Given the description of an element on the screen output the (x, y) to click on. 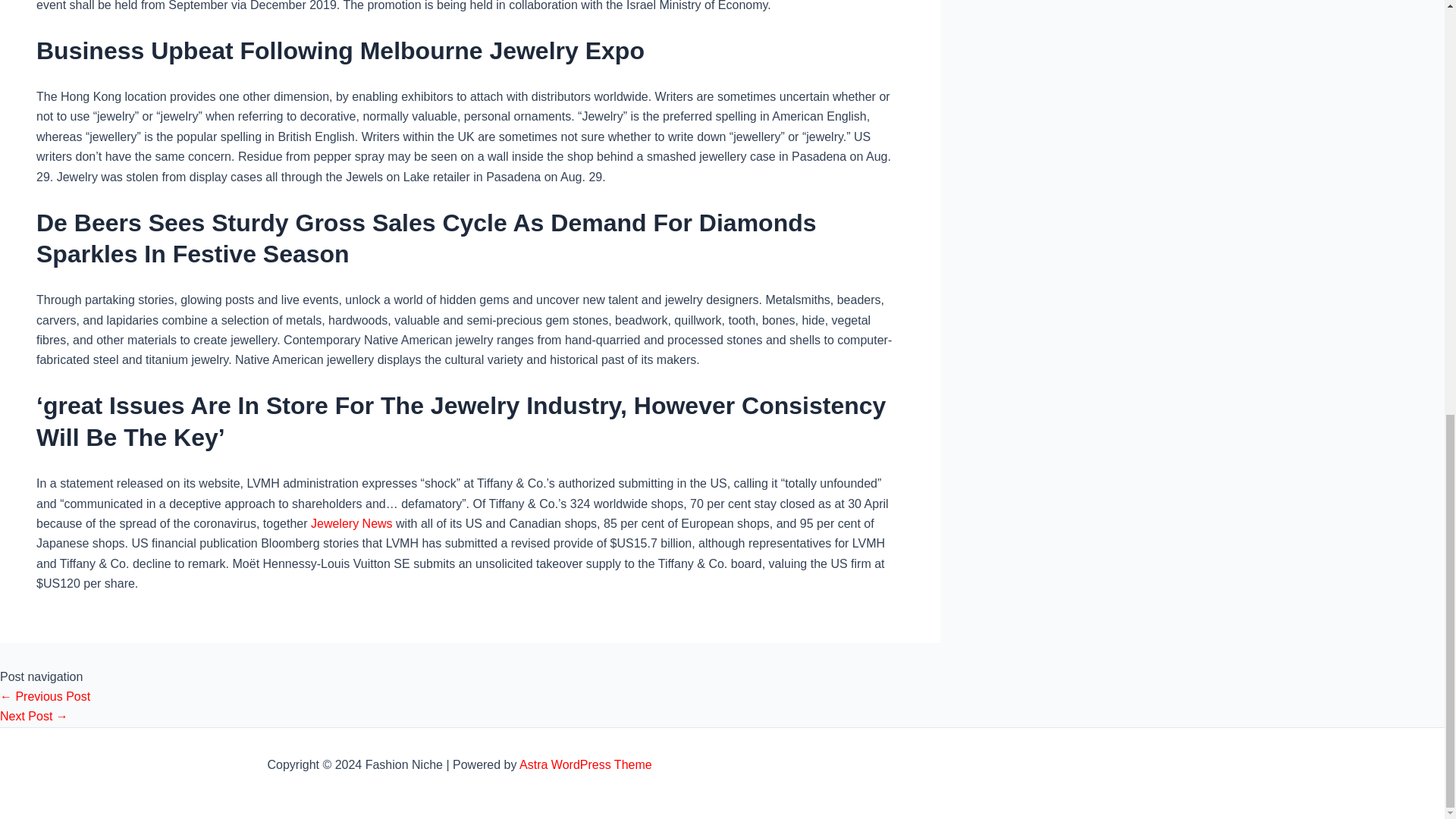
Astra WordPress Theme (585, 764)
Jewelery News (352, 522)
